Given the description of an element on the screen output the (x, y) to click on. 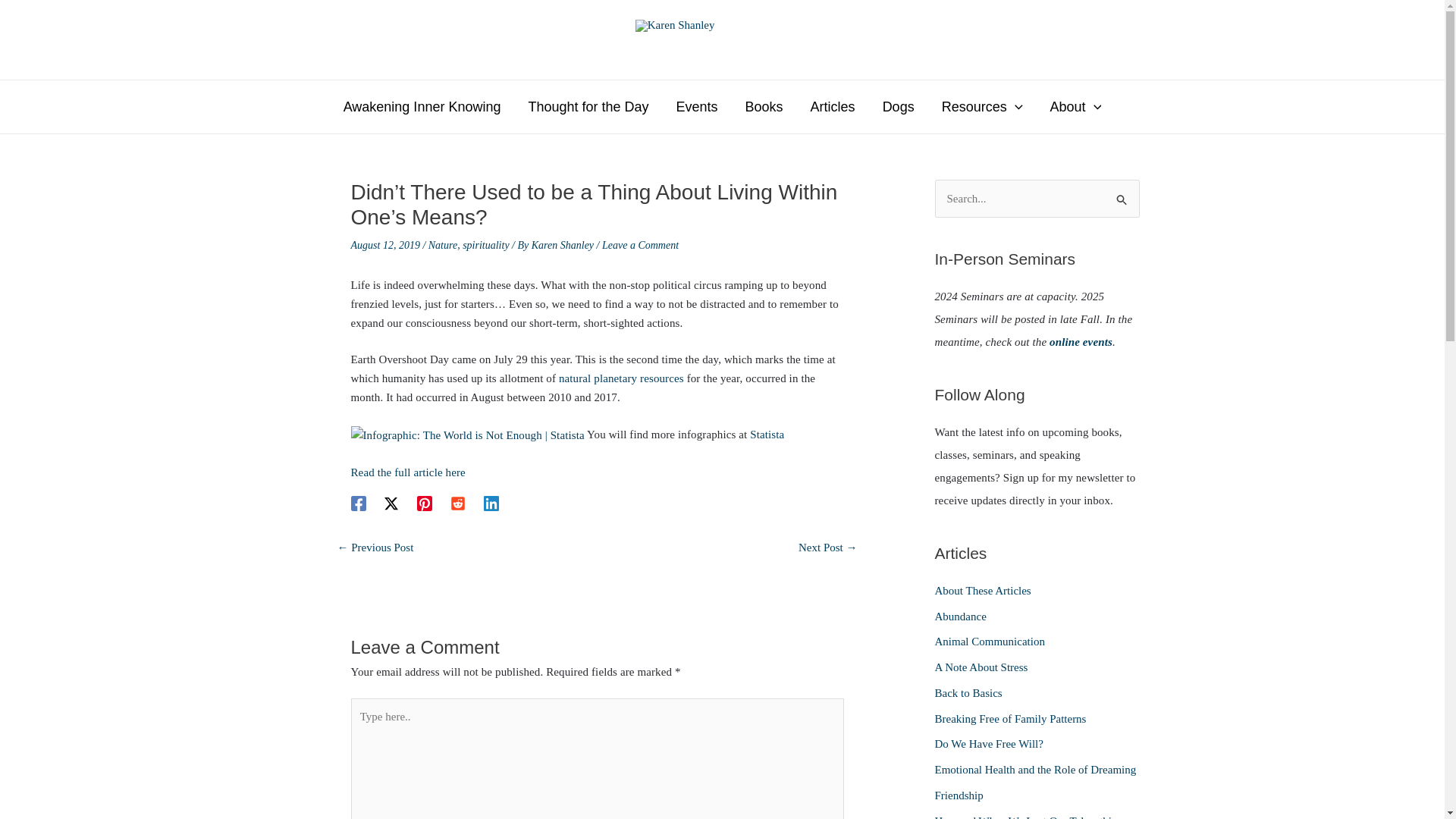
Leave a Comment (640, 244)
Books (764, 106)
Search (1122, 194)
Statista (766, 434)
spirituality (485, 244)
Awakening Inner Knowing (422, 106)
Read the full article here (407, 472)
Articles (832, 106)
Dogs (898, 106)
Thought for the Day (587, 106)
